Given the description of an element on the screen output the (x, y) to click on. 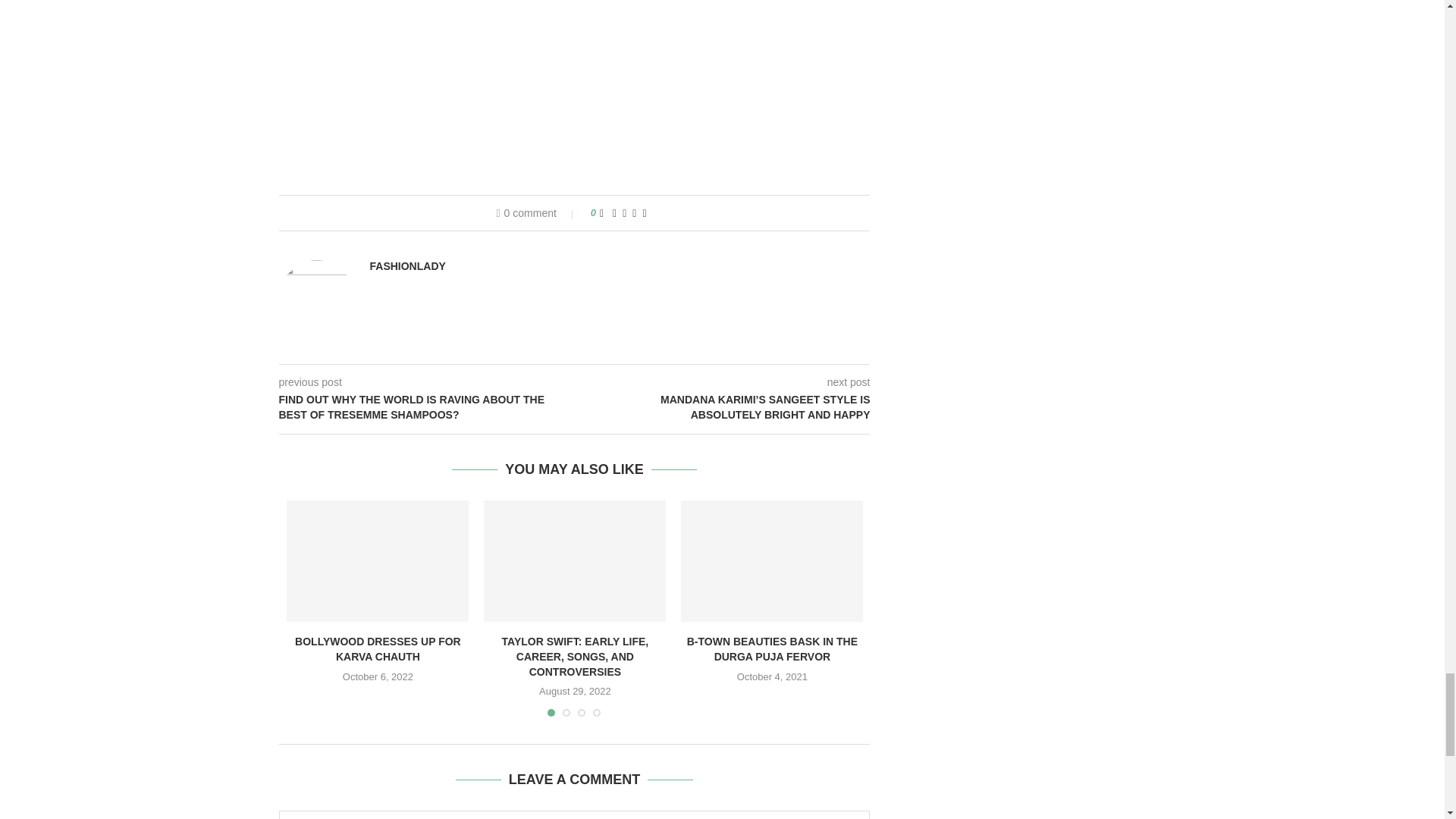
Author Fashionlady (407, 265)
Taylor Swift: Early Life, Career, Songs, And Controversies (574, 560)
Bollywood Dresses Up For Karva Chauth (377, 560)
